Given the description of an element on the screen output the (x, y) to click on. 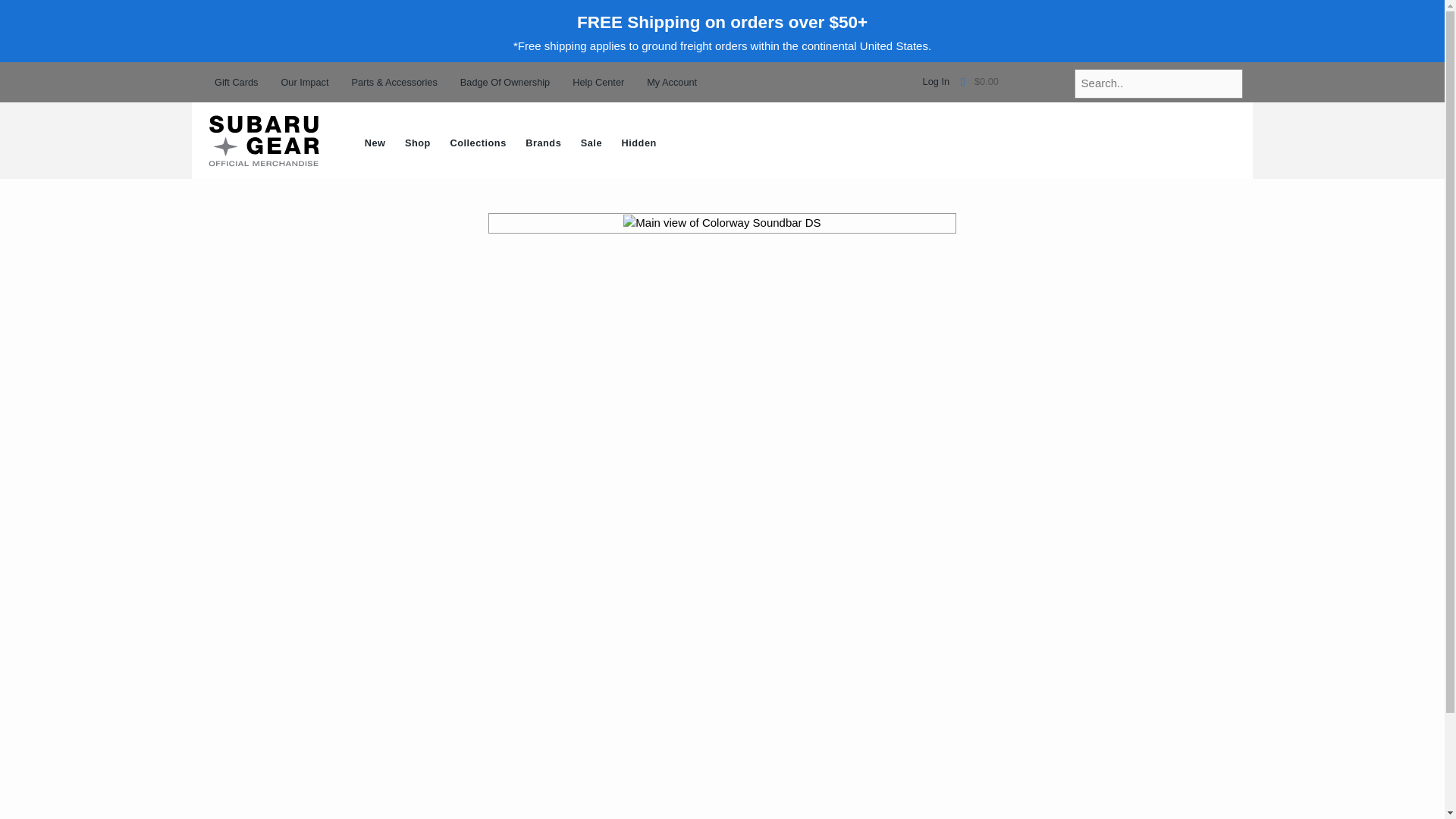
Shop (416, 144)
input-search (1158, 83)
New (374, 144)
Help Center (598, 81)
Our Impact (305, 81)
Gift Cards (235, 81)
Log In (936, 81)
Collections (478, 144)
My Account (671, 81)
Badge Of Ownership (505, 81)
